Given the description of an element on the screen output the (x, y) to click on. 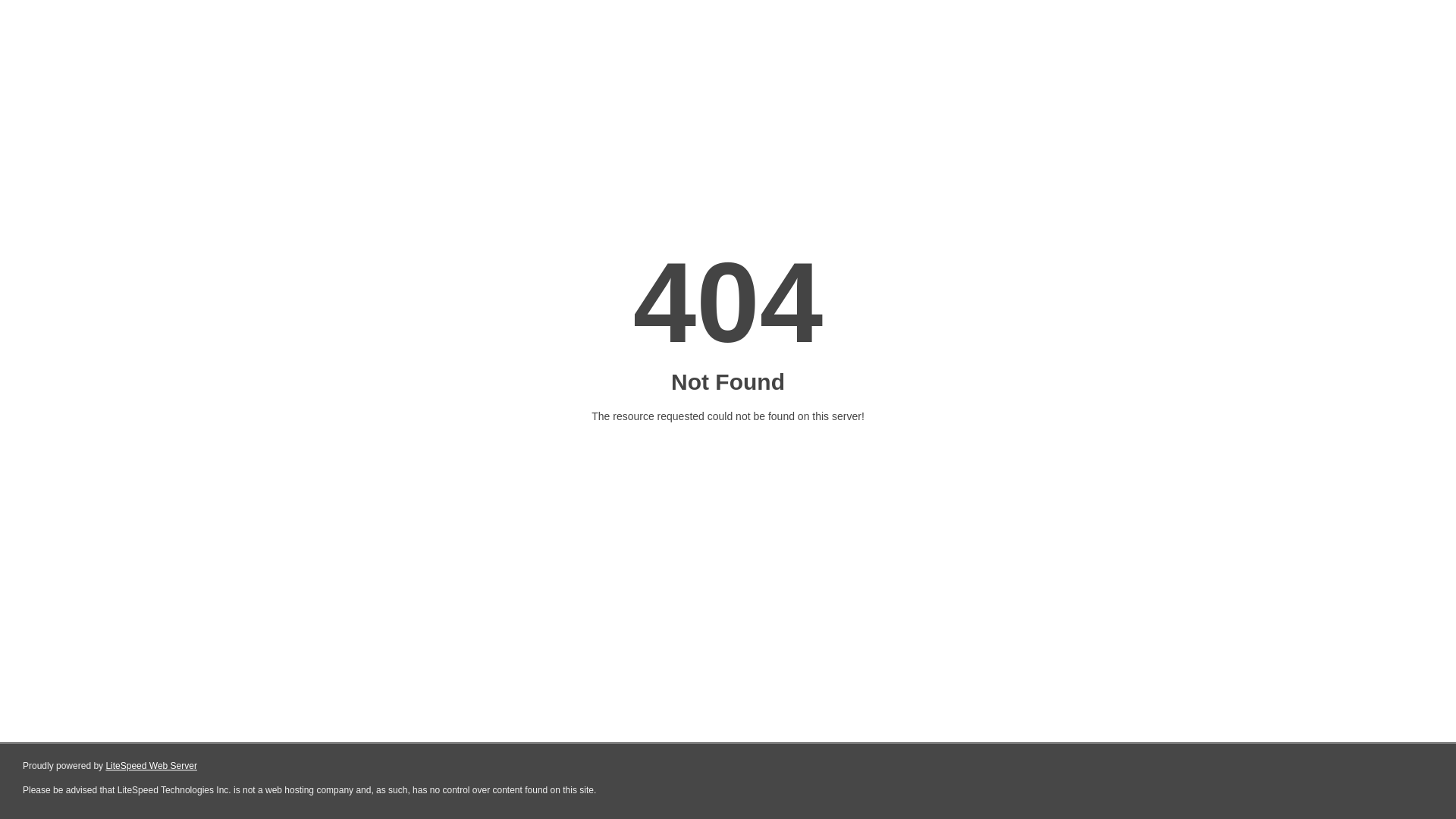
LiteSpeed Web Server Element type: text (151, 765)
